Given the description of an element on the screen output the (x, y) to click on. 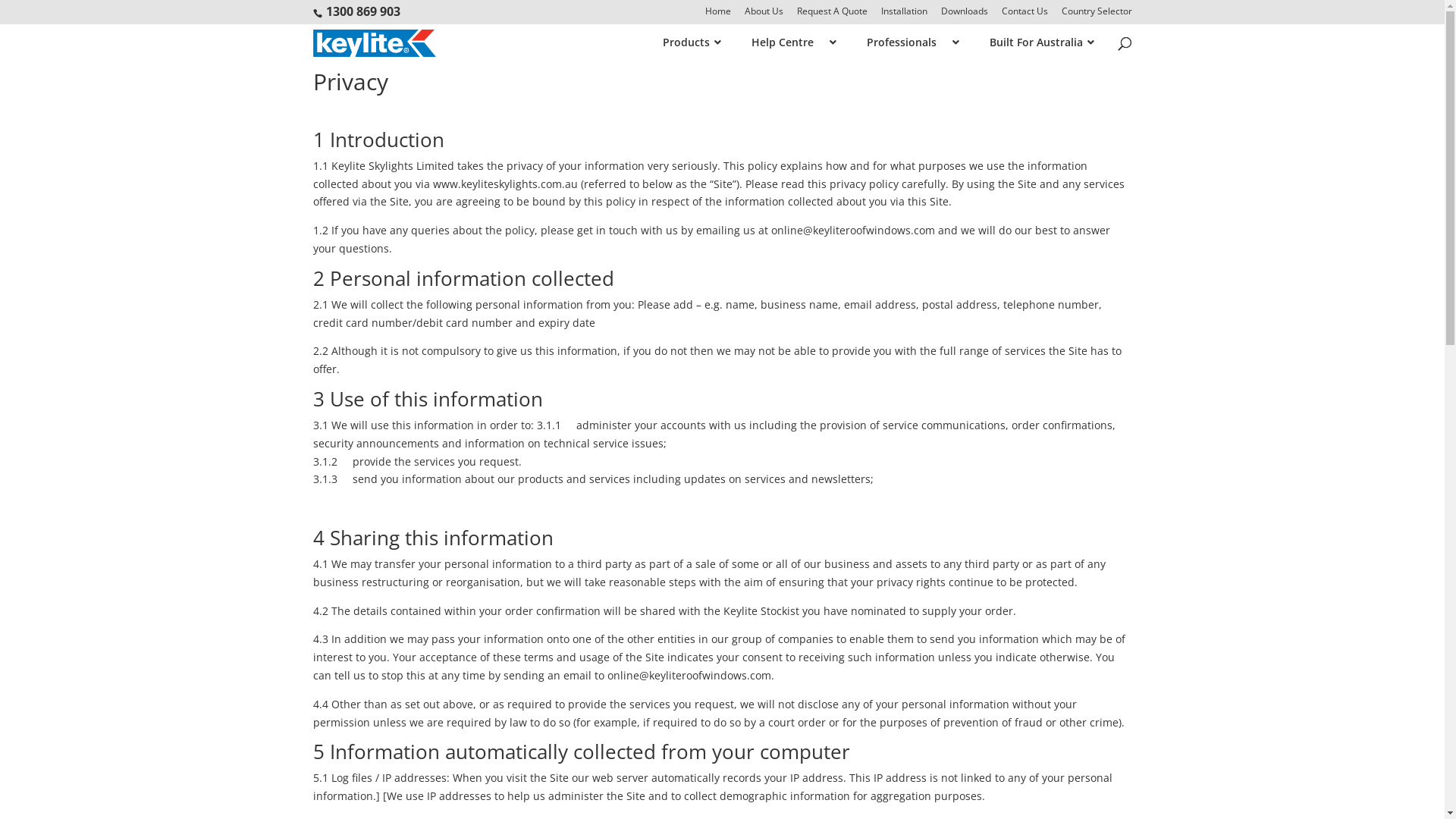
Request A Quote Element type: text (831, 14)
Country Selector Element type: text (1096, 14)
Installation Element type: text (904, 14)
Products Element type: text (684, 42)
Professionals Element type: text (904, 42)
Built For Australia Element type: text (1033, 42)
About Us Element type: text (763, 14)
Contact Us Element type: text (1024, 14)
Home Element type: text (718, 14)
1300 869 903 Element type: text (363, 11)
Downloads Element type: text (963, 14)
Help Centre Element type: text (785, 42)
